Given the description of an element on the screen output the (x, y) to click on. 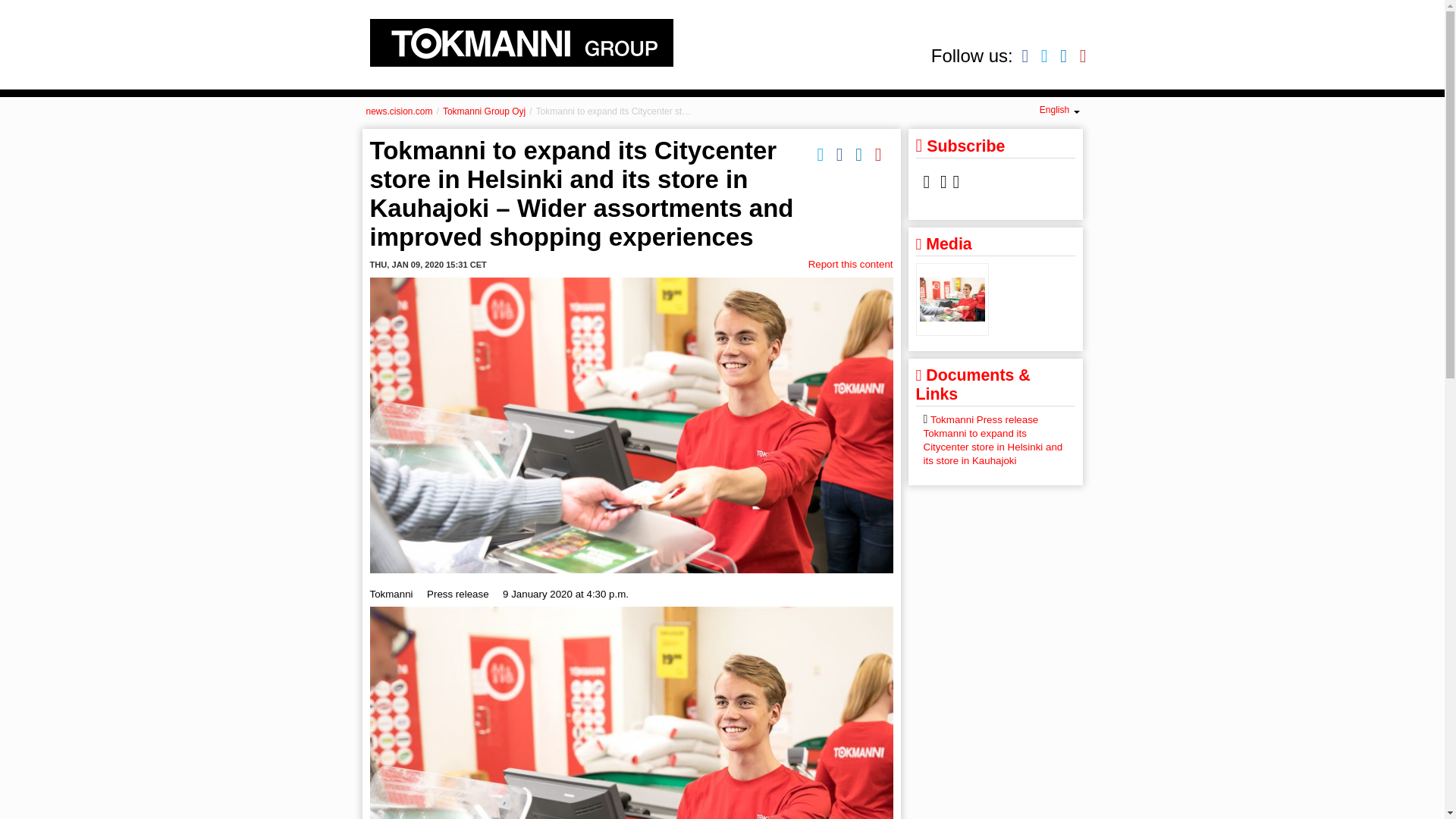
Report this content (850, 264)
Tokmanni Group Oyj (520, 42)
news.cision.com (398, 110)
Tokmanni, store (952, 299)
news.cision.com (398, 110)
Tokmanni Group Oyj (483, 110)
English (1059, 109)
Tokmanni Group Oyj (483, 110)
